Given the description of an element on the screen output the (x, y) to click on. 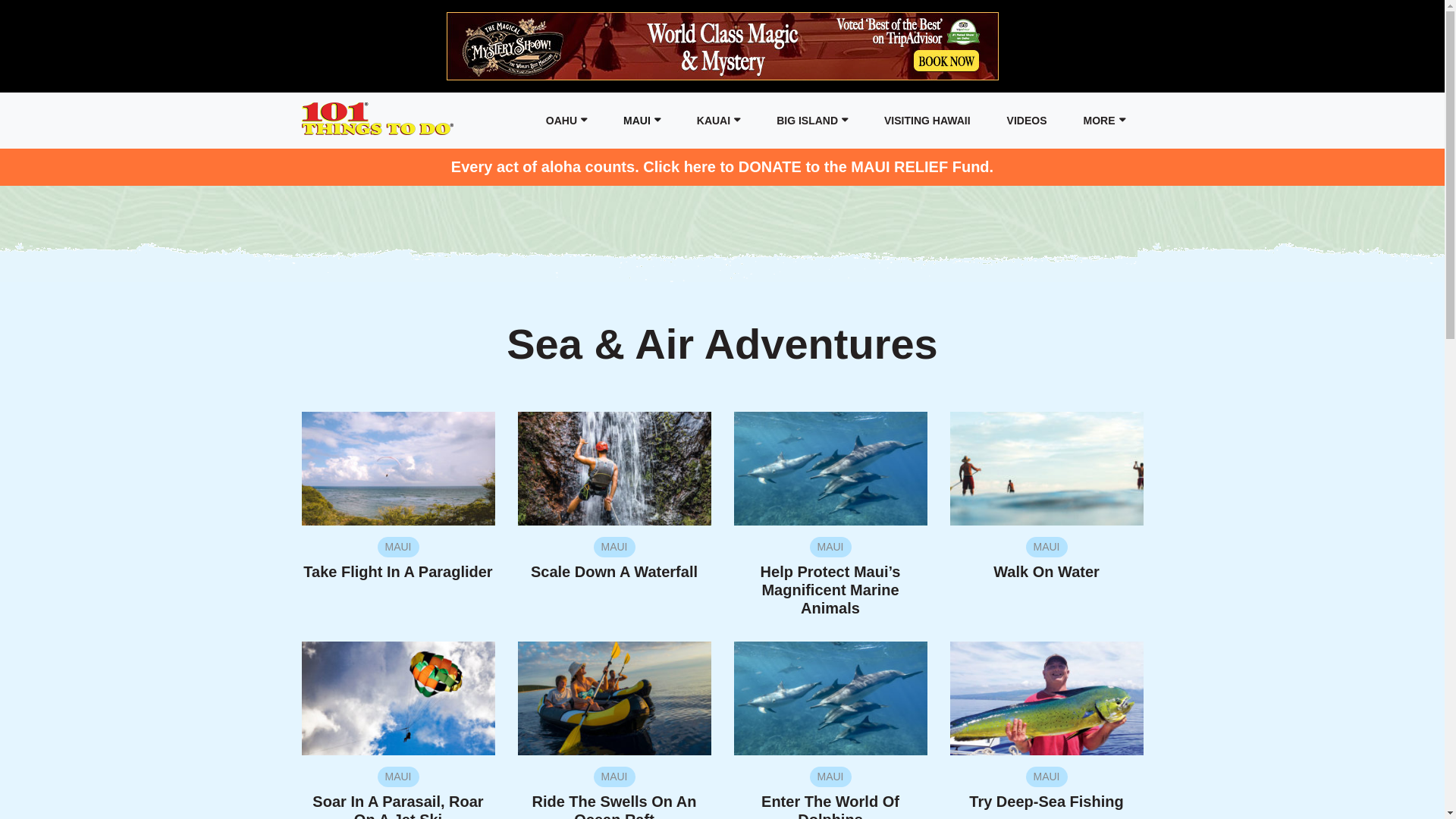
KAUAI Element type: text (718, 120)
MAUI
Scale Down A Waterfall Element type: text (613, 558)
MAUI Element type: text (641, 120)
MAUI
Take Flight In A Paraglider Element type: text (398, 558)
MAUI
Try Deep-Sea Fishing Element type: text (1045, 788)
3rd party ad content Element type: hover (721, 46)
BIG ISLAND Element type: text (811, 120)
VISITING HAWAII Element type: text (927, 120)
VIDEOS Element type: text (1027, 120)
MORE Element type: text (1103, 120)
MAUI
Walk On Water Element type: text (1045, 558)
OAHU Element type: text (566, 120)
